Given the description of an element on the screen output the (x, y) to click on. 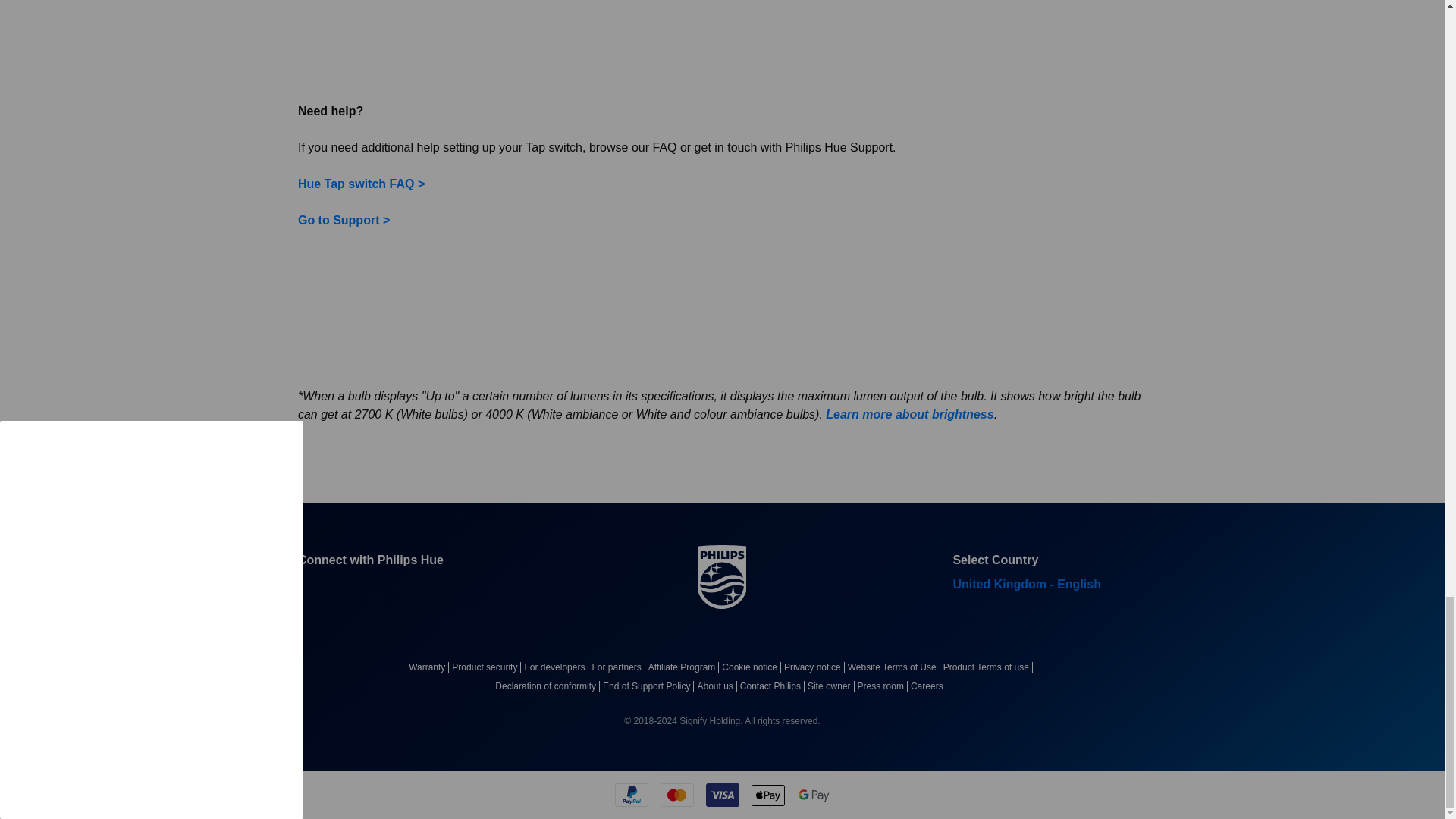
Hue support faq (344, 219)
Pinterest (382, 589)
Hue tap switch (504, 42)
Instagram (418, 589)
Warranty (430, 666)
Facebook (309, 589)
Product security (487, 666)
For developers (557, 666)
For partners (619, 666)
Select Country (1035, 584)
